Given the description of an element on the screen output the (x, y) to click on. 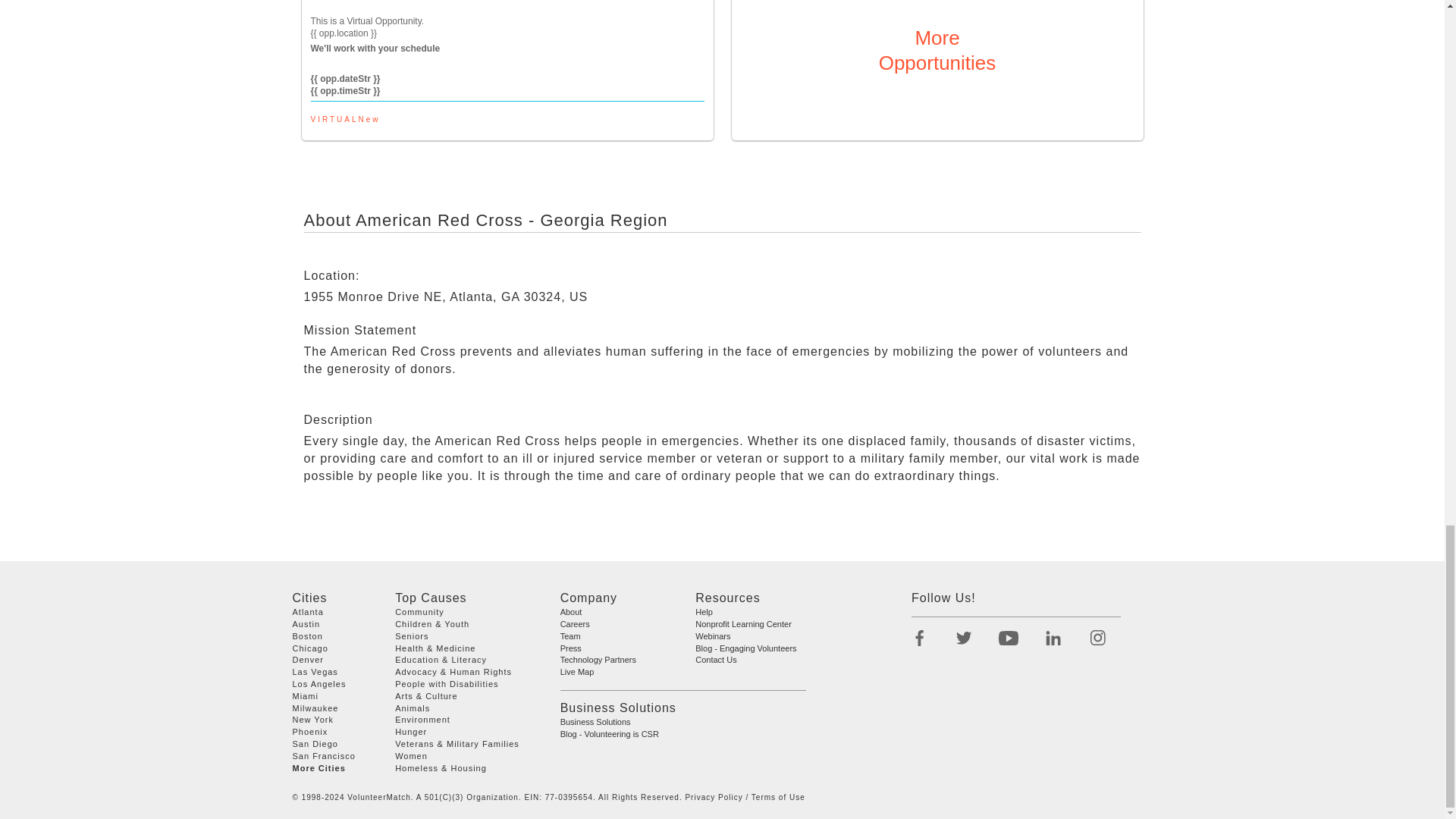
Boston (307, 634)
Austin (306, 623)
Chicago (310, 646)
Atlanta (307, 611)
